Given the description of an element on the screen output the (x, y) to click on. 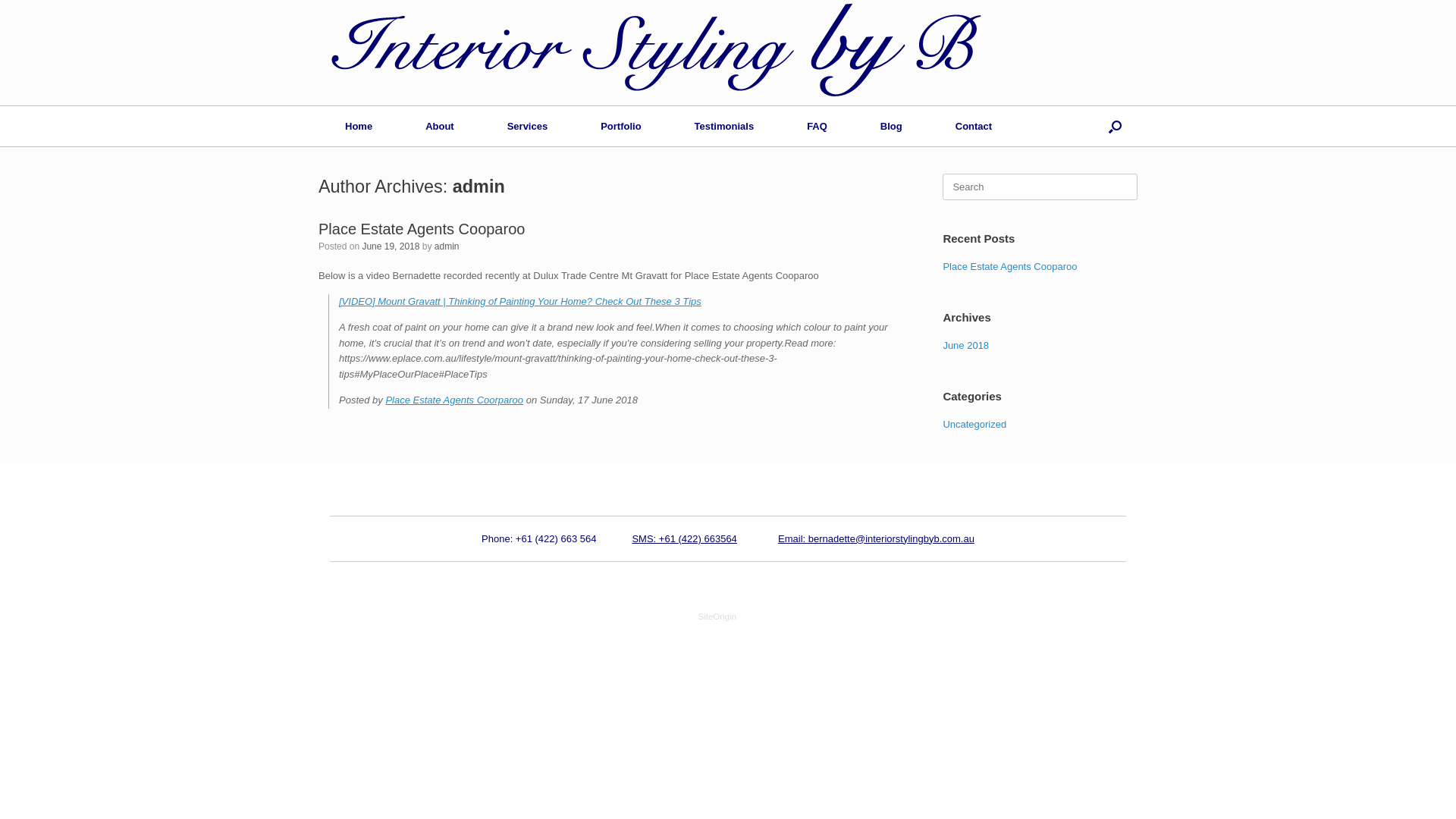
Uncategorized Element type: text (974, 423)
SiteOrigin Element type: text (716, 615)
Contact Element type: text (973, 126)
Email: bernadette@interiorstylingbyb.com.au Element type: text (876, 537)
Phone: +61 (422) 663 564 Element type: text (538, 537)
admin Element type: text (478, 186)
FAQ Element type: text (816, 126)
Blog Element type: text (890, 126)
Place Estate Agents Coorparoo Element type: text (454, 399)
Place Estate Agents Cooparoo Element type: text (1009, 266)
June 19, 2018 Element type: text (390, 246)
SMS: +61 (422) 663564 Element type: text (683, 537)
Place Estate Agents Cooparoo Element type: text (421, 228)
Skip to content Element type: text (0, 0)
About Element type: text (439, 126)
Testimonials Element type: text (724, 126)
Home Element type: text (358, 126)
Interior Styling by B Element type: hover (653, 52)
Services Element type: text (527, 126)
admin Element type: text (446, 246)
June 2018 Element type: text (965, 345)
Portfolio Element type: text (620, 126)
